Given the description of an element on the screen output the (x, y) to click on. 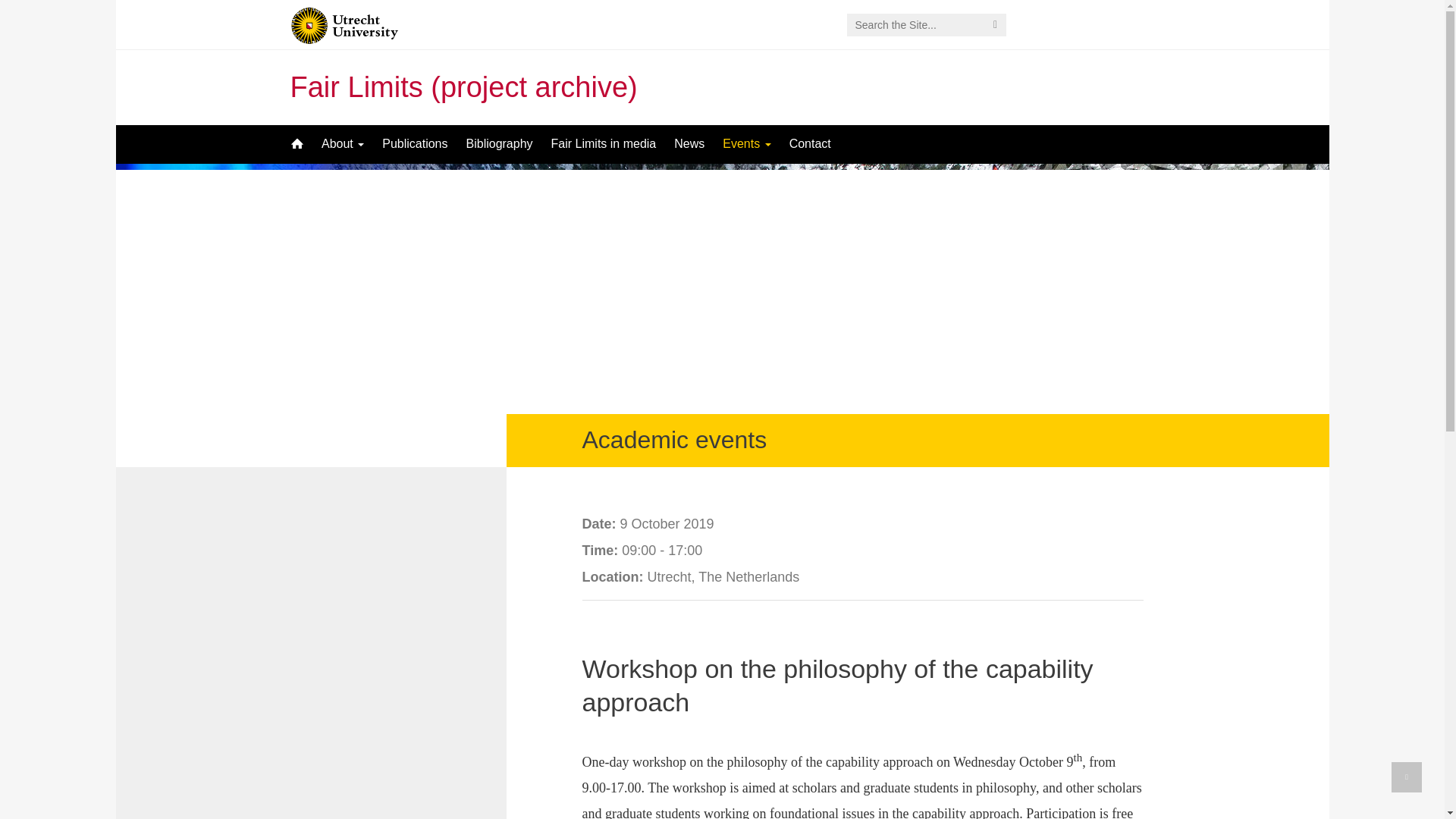
Publications (414, 143)
Contact (810, 143)
Contact (810, 143)
Publications (414, 143)
Bibliography (499, 143)
Events (745, 143)
Bibliography (499, 143)
Fair Limits in media (603, 143)
About (342, 143)
About (342, 143)
